Given the description of an element on the screen output the (x, y) to click on. 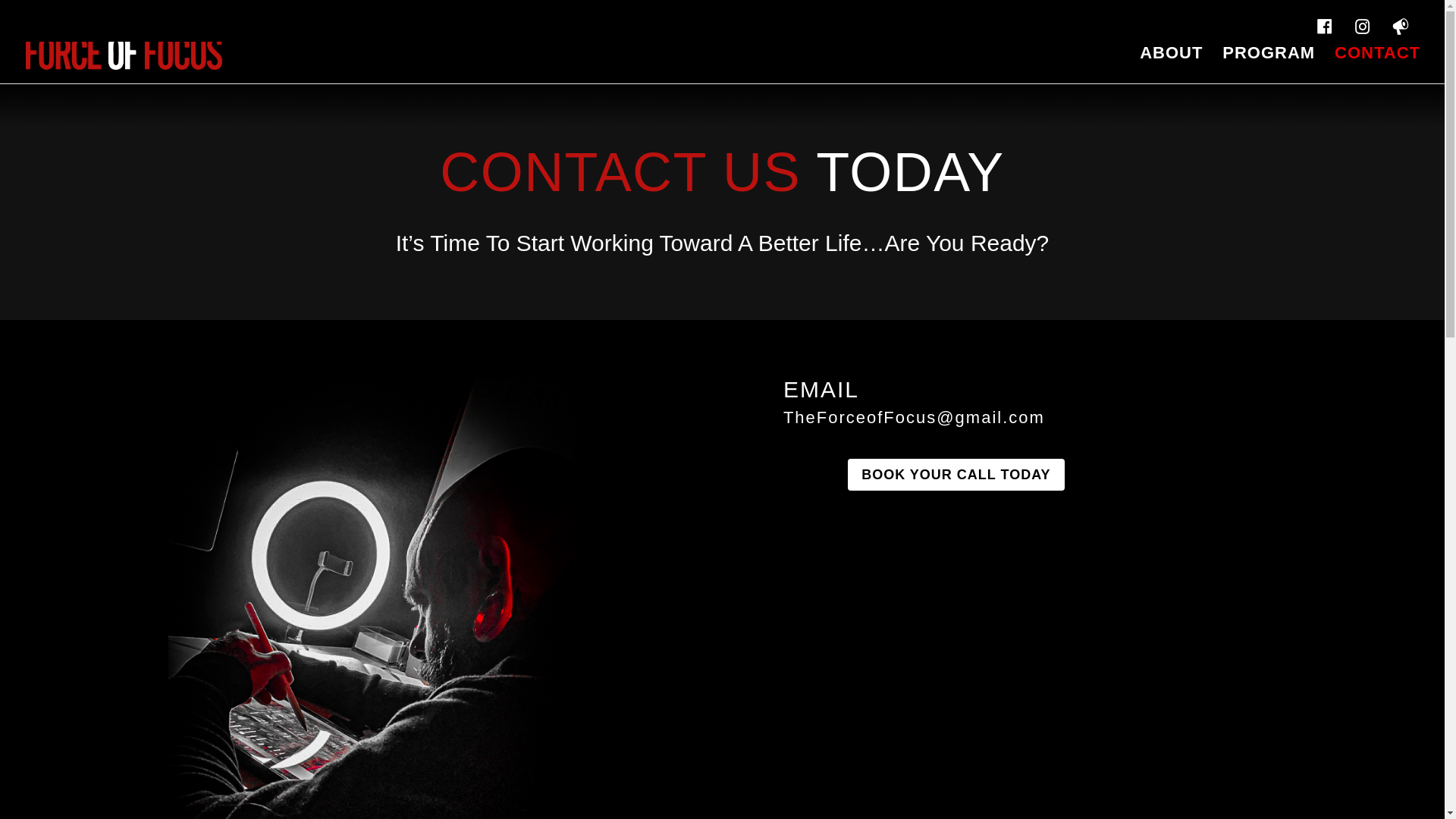
PROGRAM (1268, 65)
CONTACT (1378, 65)
BOOK YOUR CALL TODAY (955, 474)
ABOUT (1171, 65)
